Given the description of an element on the screen output the (x, y) to click on. 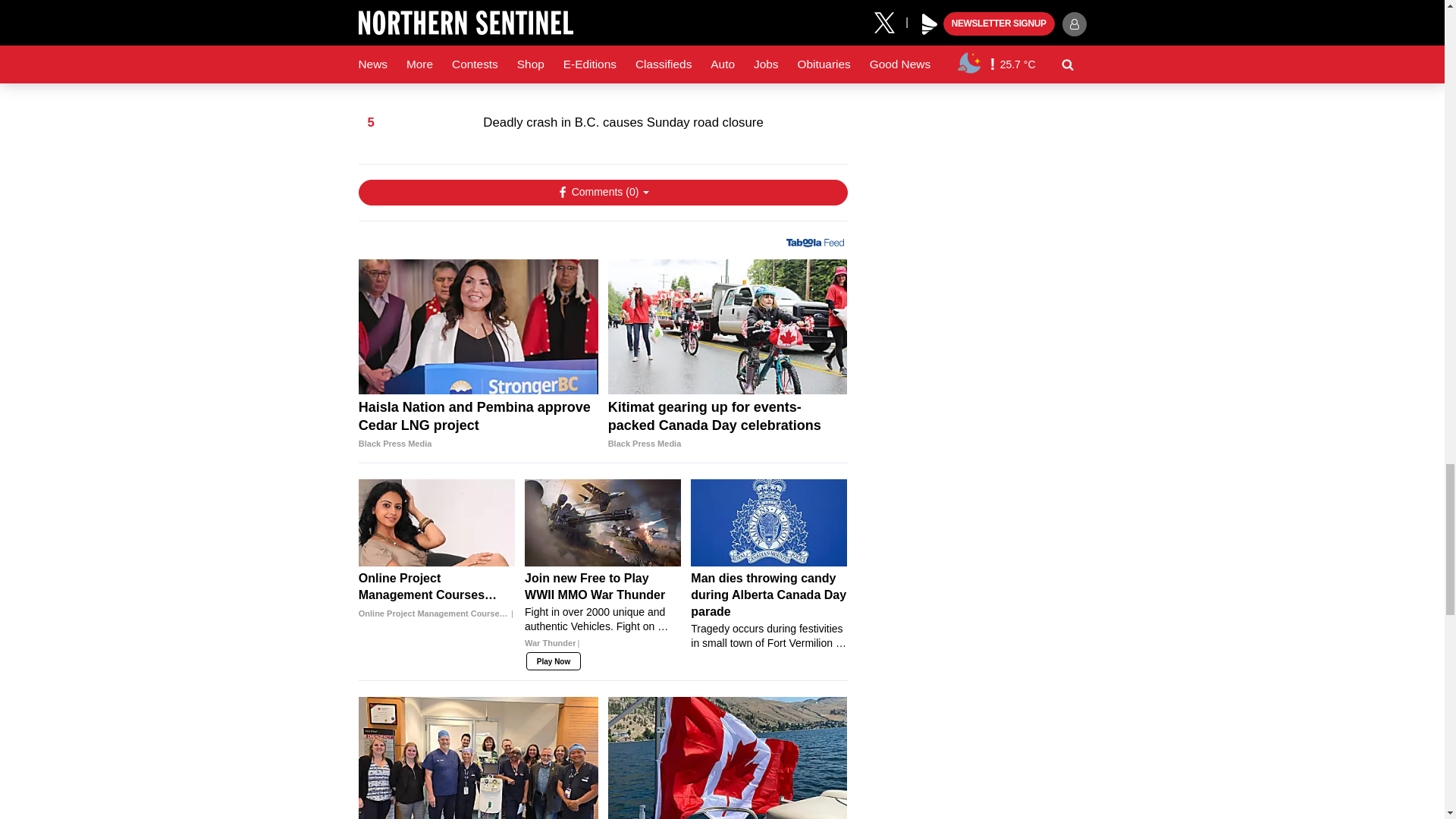
Haisla Nation and Pembina approve Cedar LNG project (478, 326)
Kitimat gearing up for events-packed Canada Day celebrations (727, 326)
Haisla Nation and Pembina approve Cedar LNG project (478, 425)
Show Comments (602, 192)
Kitimat gearing up for events-packed Canada Day celebrations (727, 425)
